Given the description of an element on the screen output the (x, y) to click on. 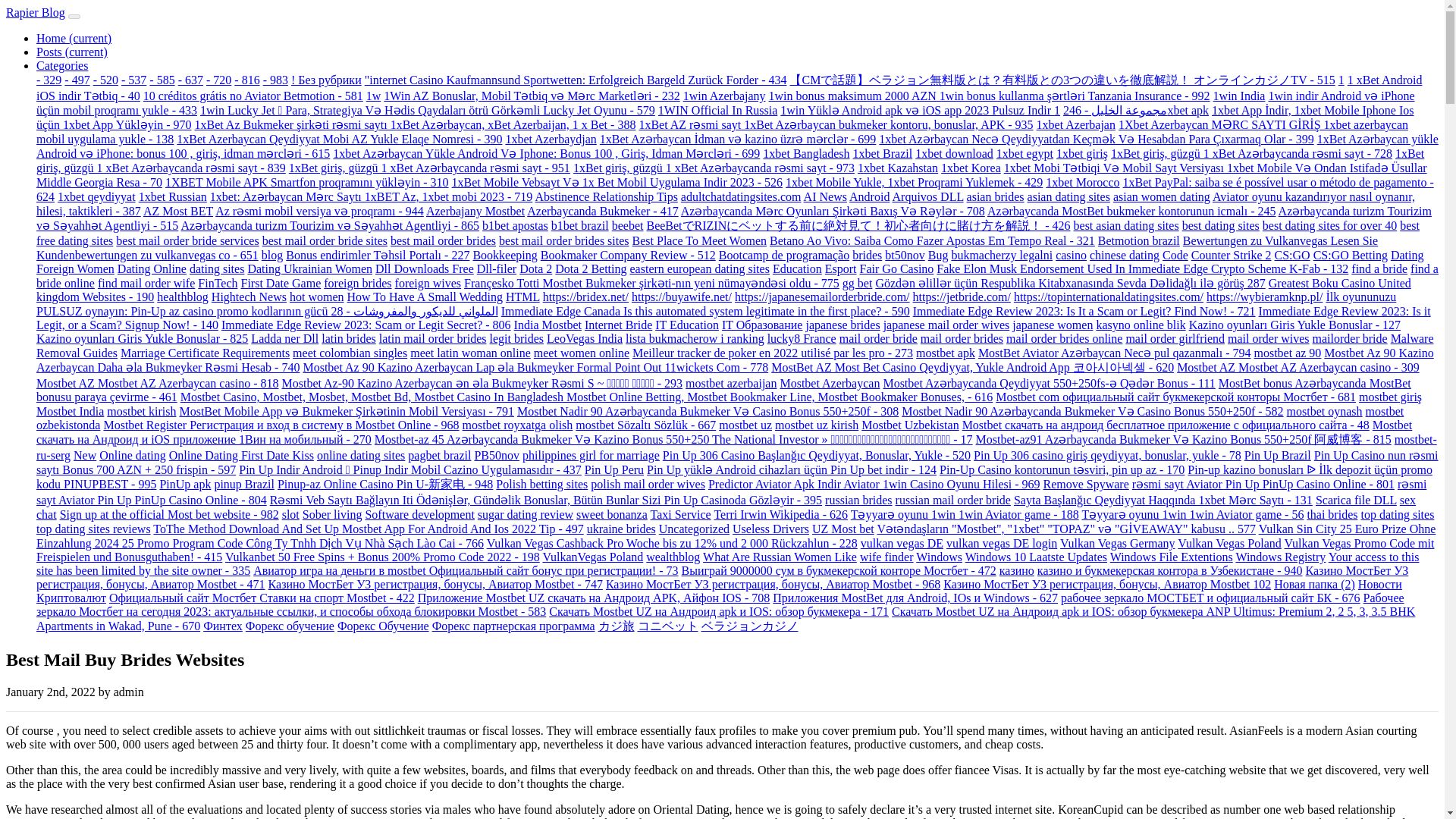
1WIN Official In Russia (717, 110)
Rapier Blog (35, 11)
Categories (61, 65)
- 585 (161, 79)
1win Azerbajany (723, 95)
1w (373, 95)
- 520 (105, 79)
1xbet apk (1131, 110)
- 329 (48, 79)
- 537 (133, 79)
